Given the description of an element on the screen output the (x, y) to click on. 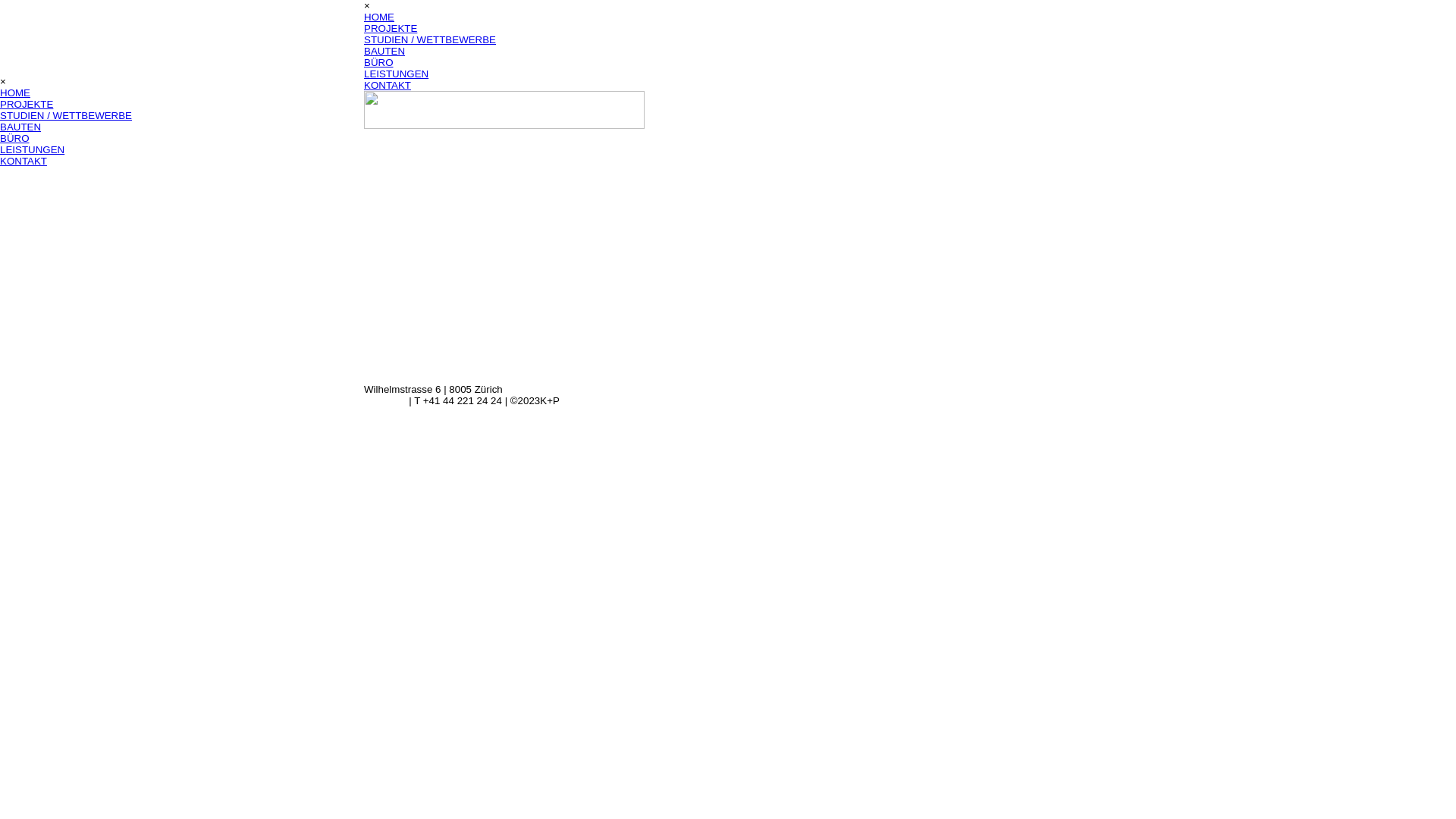
HOME Element type: text (379, 16)
BAUTEN Element type: text (20, 126)
KONTAKT Element type: text (23, 160)
KONTAKT Element type: text (387, 85)
PROJEKTE Element type: text (390, 28)
STUDIEN / WETTBEWERBE Element type: text (429, 39)
HOME Element type: text (15, 92)
STUDIEN / WETTBEWERBE Element type: text (65, 115)
PROJEKTE Element type: text (26, 103)
LEISTUNGEN Element type: text (396, 73)
BAUTEN Element type: text (384, 50)
LEISTUNGEN Element type: text (32, 149)
